Given the description of an element on the screen output the (x, y) to click on. 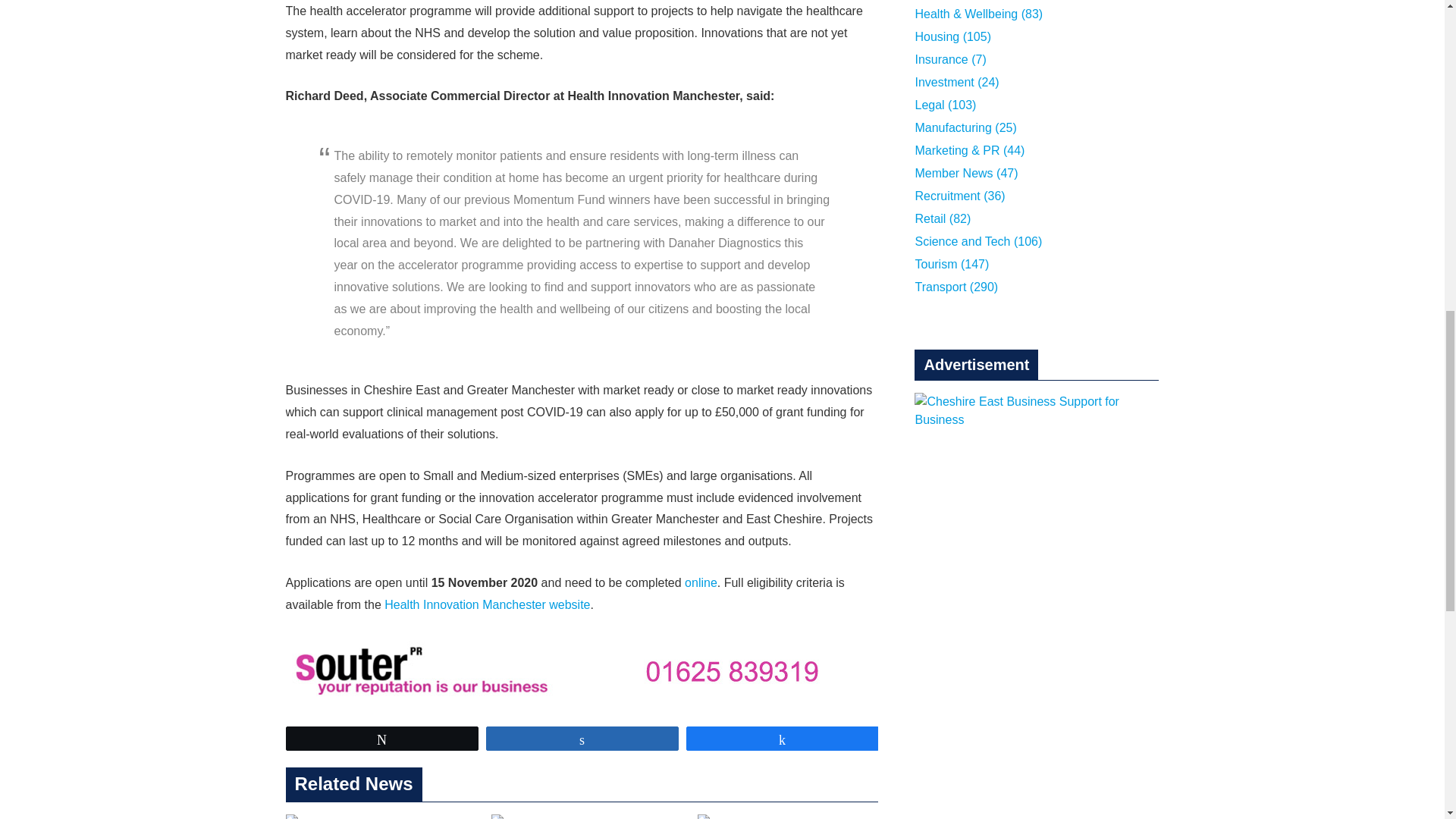
Health Innovation Manchester website (486, 604)
online (700, 582)
